Given the description of an element on the screen output the (x, y) to click on. 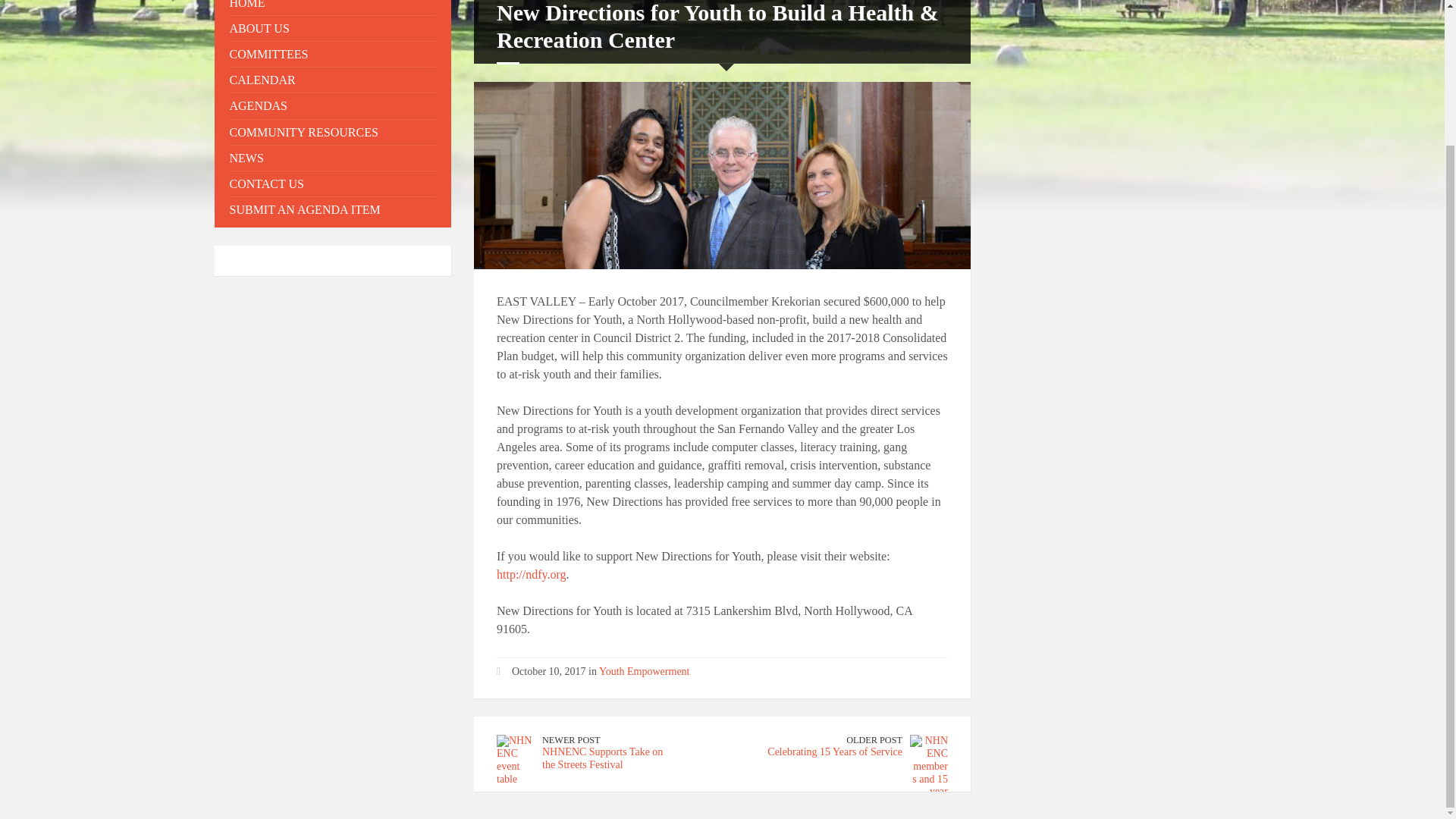
HOME (331, 7)
NEWER POST (570, 739)
ABOUT US (331, 27)
Celebrating 15 Years of Service (834, 751)
OLDER POST (873, 739)
NHNENC Supports Take on the Streets Festival (601, 758)
Youth Empowerment (644, 671)
